Given the description of an element on the screen output the (x, y) to click on. 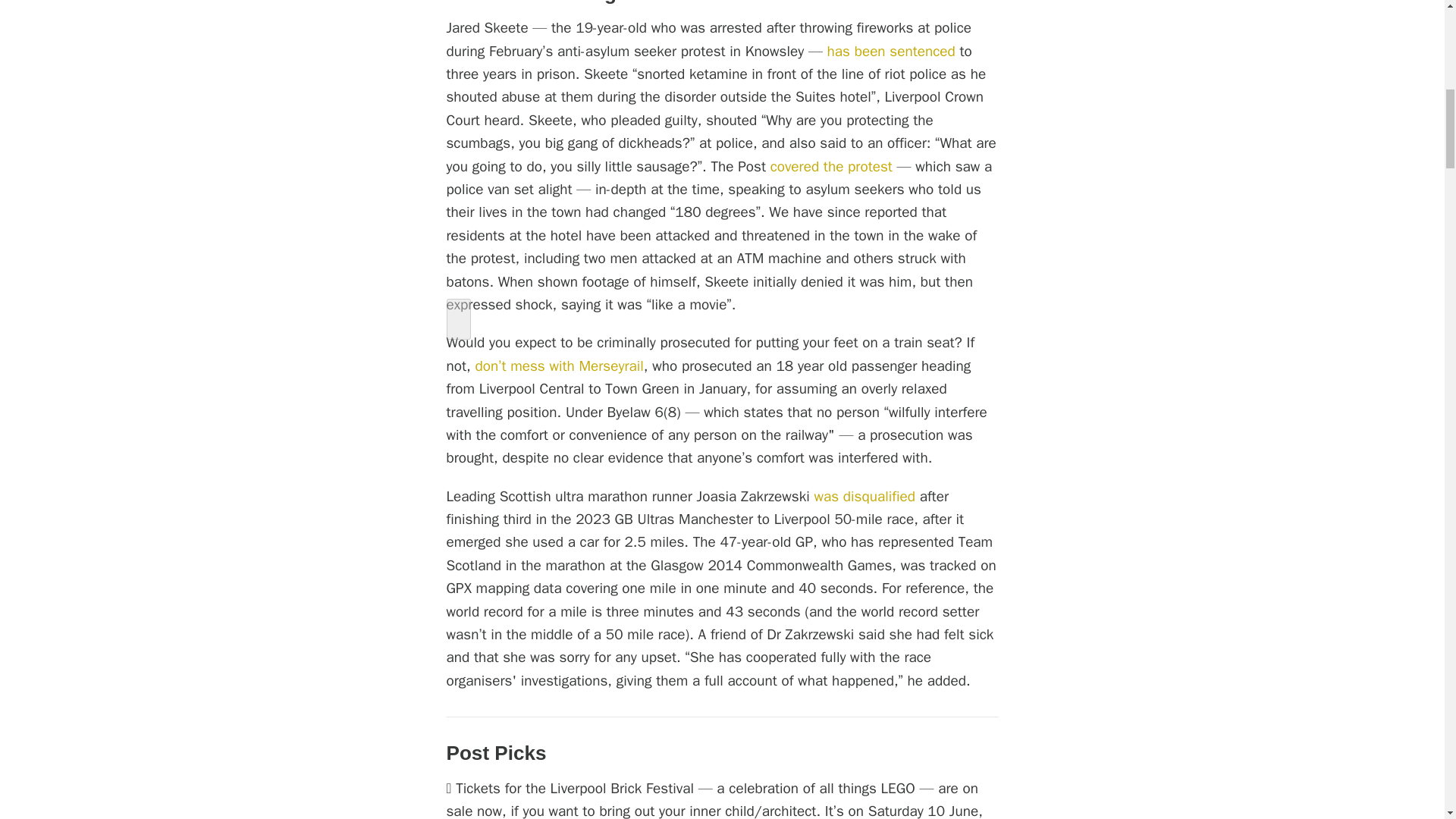
has been sentenced (891, 51)
covered the protest (831, 167)
was disqualified (864, 496)
